Given the description of an element on the screen output the (x, y) to click on. 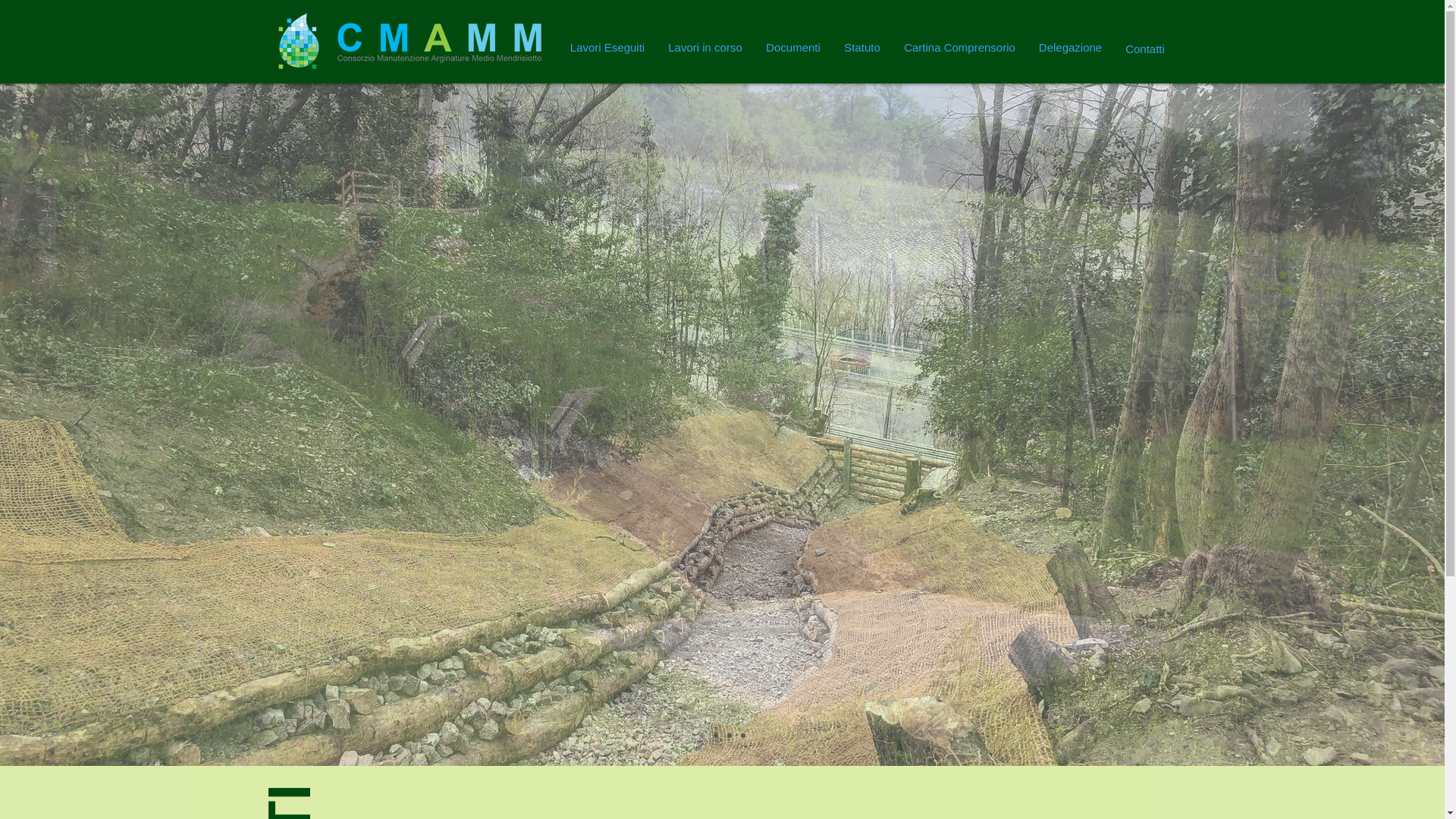
Delegazione Element type: text (1069, 47)
Lavori Eseguiti Element type: text (606, 47)
Cartina Comprensorio Element type: text (958, 47)
Documenti Element type: text (792, 47)
Lavori in corso Element type: text (705, 47)
Statuto Element type: text (862, 47)
Contatti Element type: text (1144, 48)
